Given the description of an element on the screen output the (x, y) to click on. 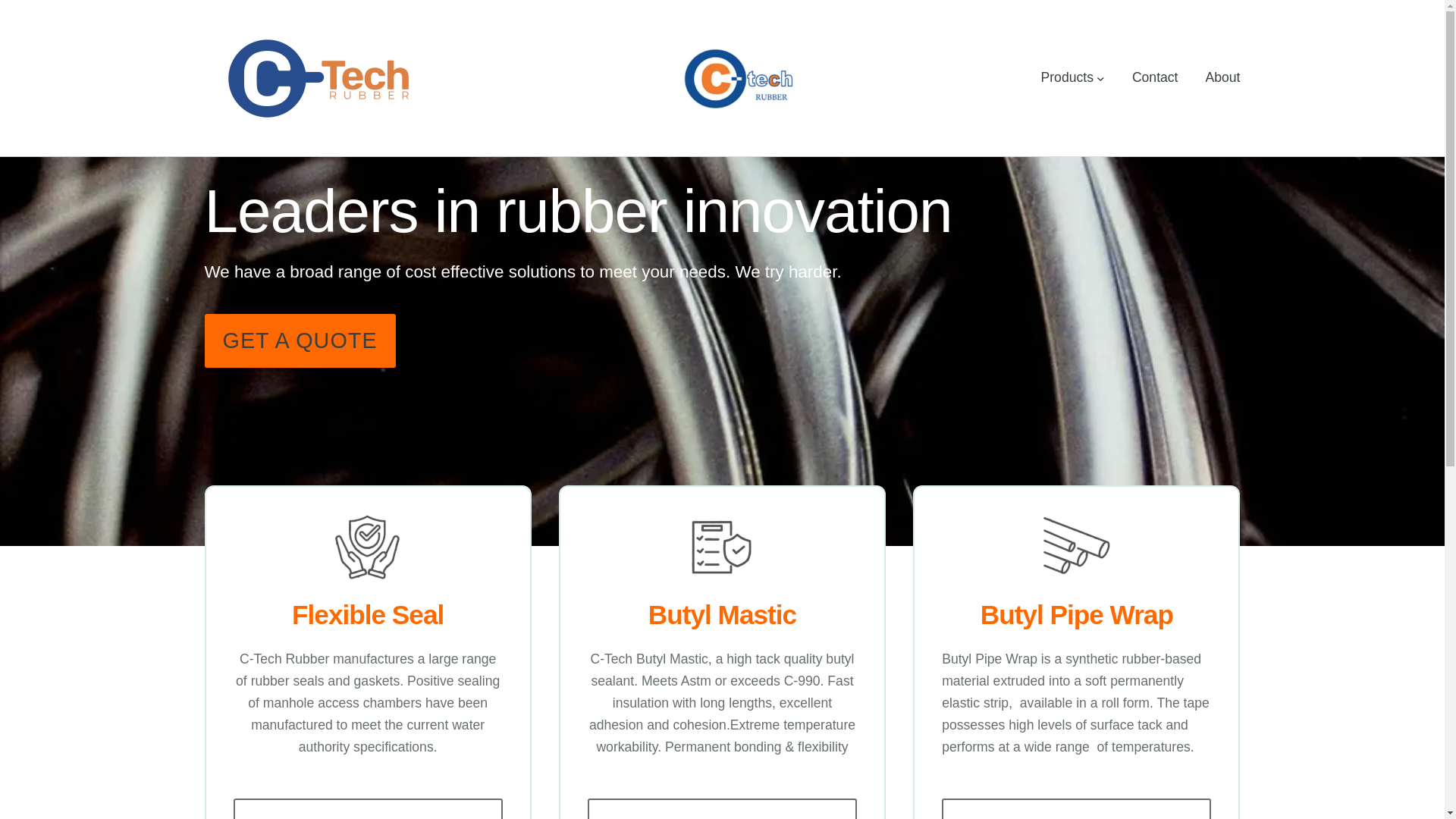
Products Element type: text (1066, 77)
Butyl Pipe Wrap Element type: text (1076, 614)
Contact Element type: text (1155, 77)
Flexible Seal Element type: text (367, 614)
GET A QUOTE Element type: text (299, 340)
About Element type: text (1222, 77)
Butyl Mastic Element type: text (722, 614)
